Given the description of an element on the screen output the (x, y) to click on. 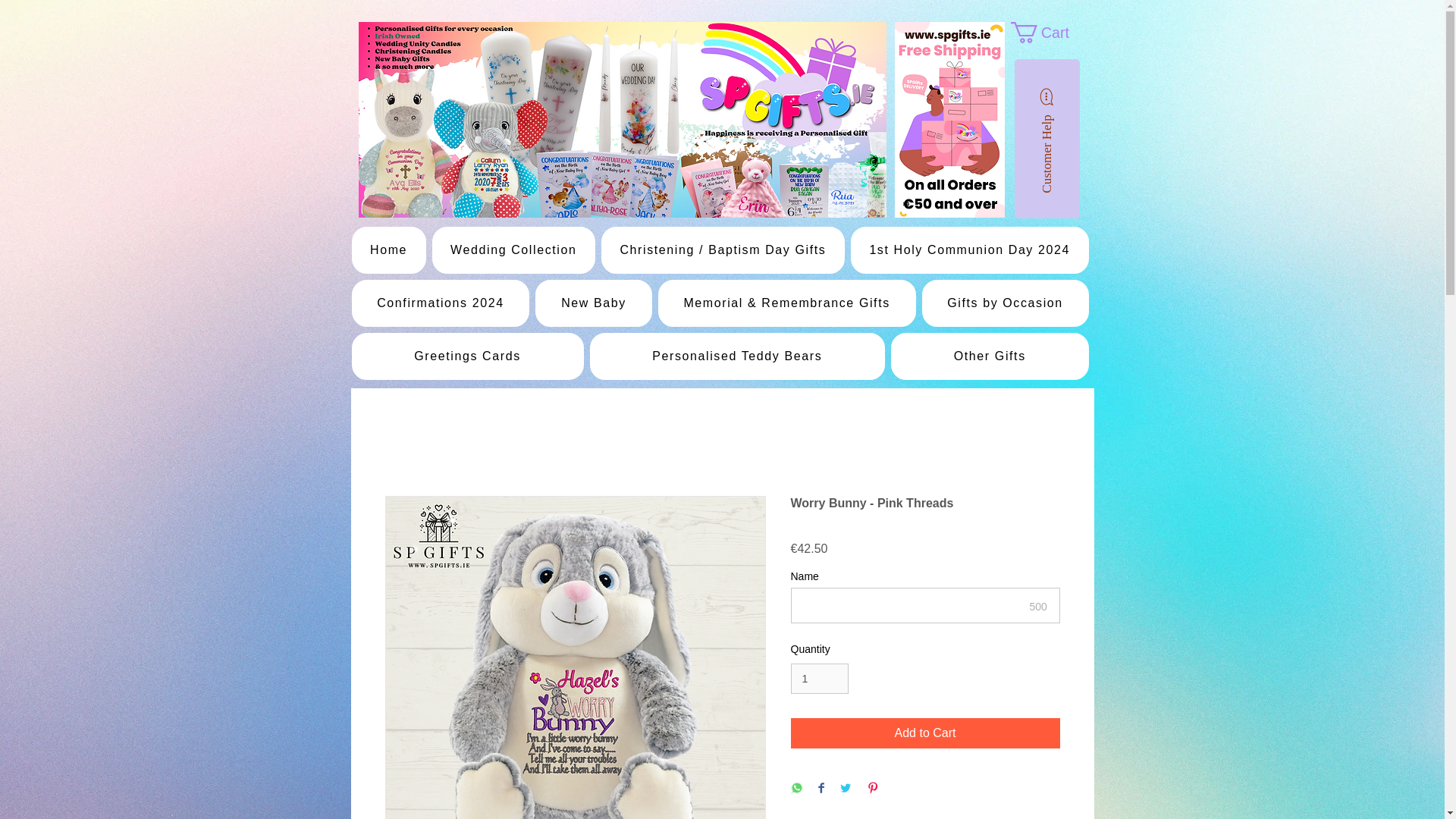
Cart (1049, 32)
Home (389, 249)
Cart (1049, 32)
Customer Help (1093, 91)
1 (818, 678)
